Given the description of an element on the screen output the (x, y) to click on. 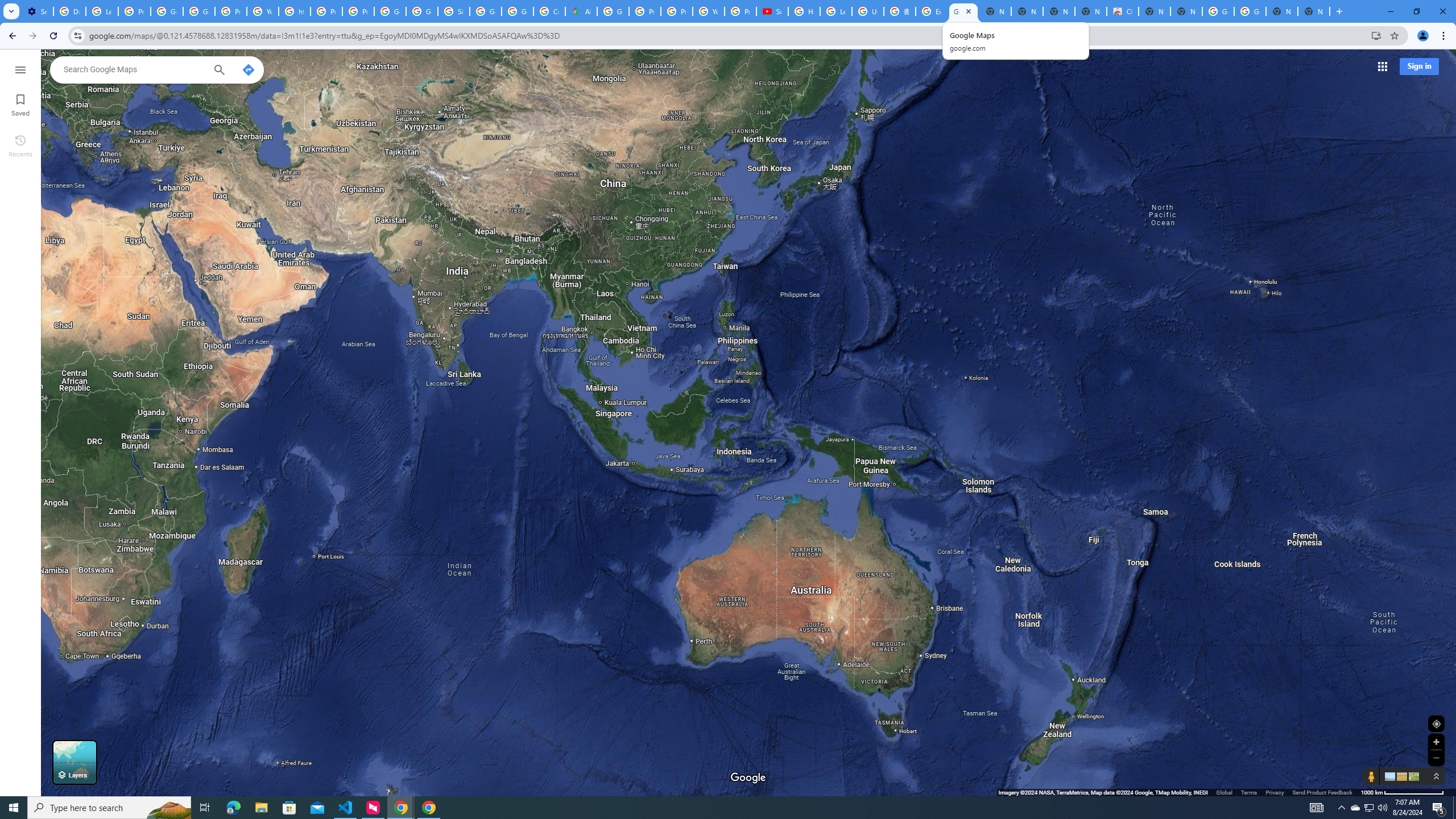
Recents (20, 145)
Google Images (1249, 11)
Google Account Help (166, 11)
Explore new street-level details - Google Maps Help (931, 11)
New Tab (1313, 11)
Sign in - Google Accounts (453, 11)
